Given the description of an element on the screen output the (x, y) to click on. 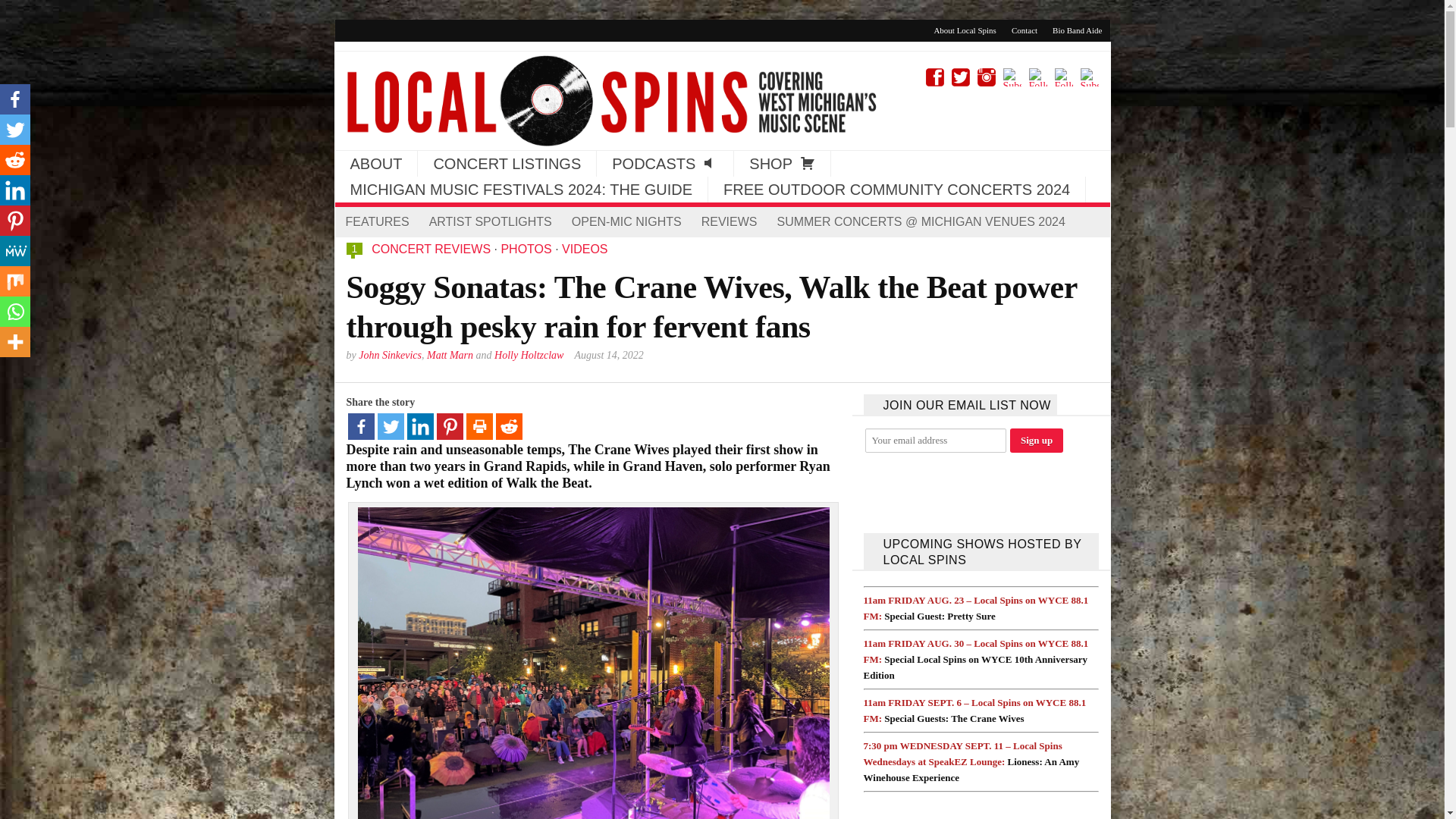
FEATURES (376, 222)
PODCASTS (664, 163)
Posts by Matt Marn (449, 355)
MeWe (15, 250)
Twitter (15, 129)
MICHIGAN MUSIC FESTIVALS 2024: THE GUIDE (520, 189)
Linkedin (15, 190)
Print (478, 426)
Pinterest (449, 426)
SHOP (781, 163)
